Given the description of an element on the screen output the (x, y) to click on. 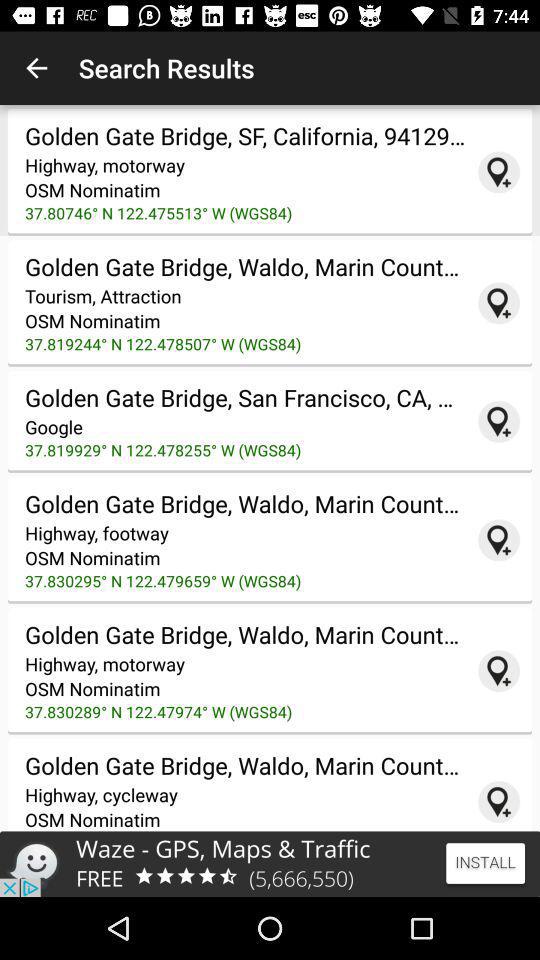
map (499, 421)
